Given the description of an element on the screen output the (x, y) to click on. 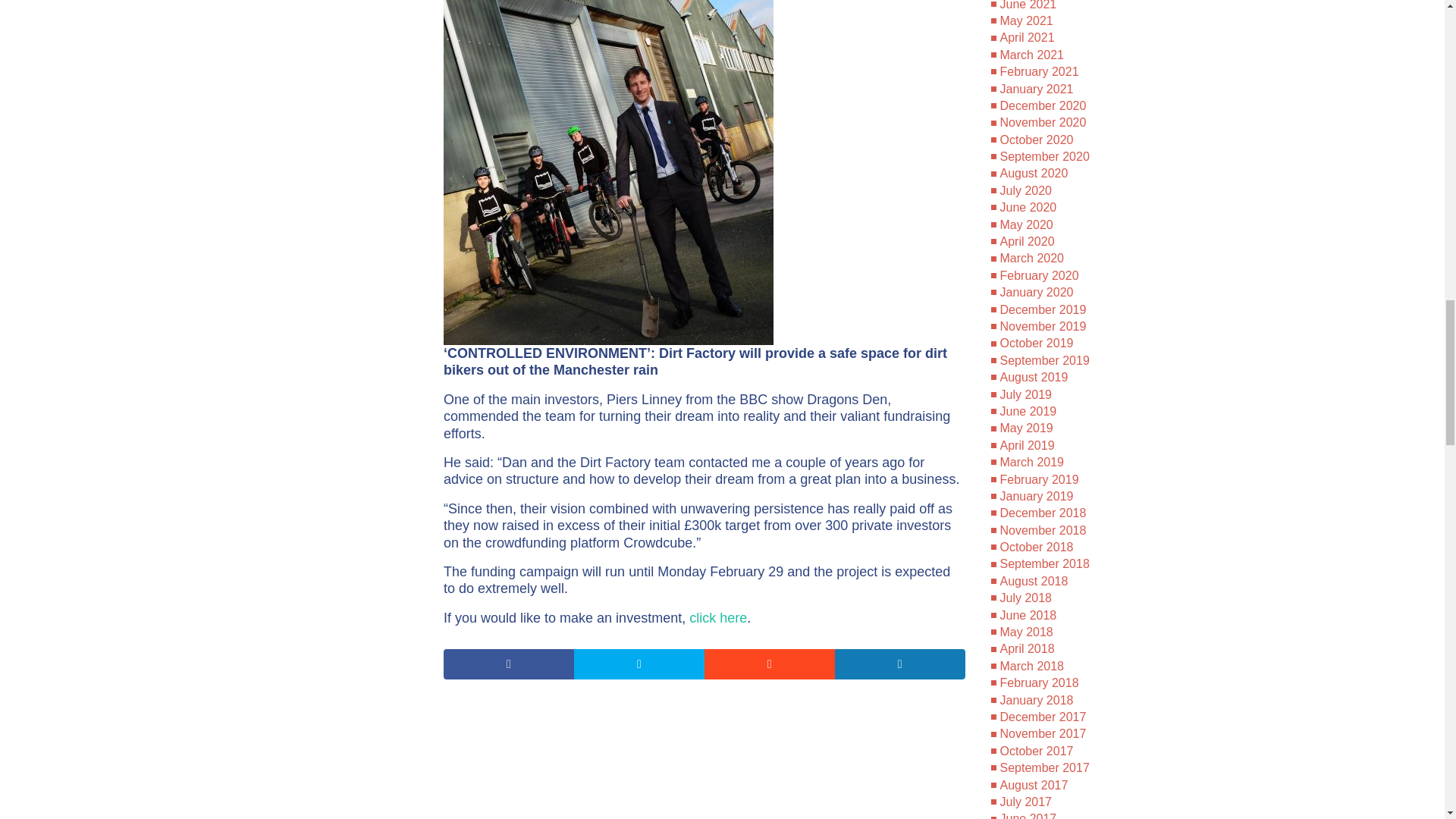
click here (717, 617)
